Given the description of an element on the screen output the (x, y) to click on. 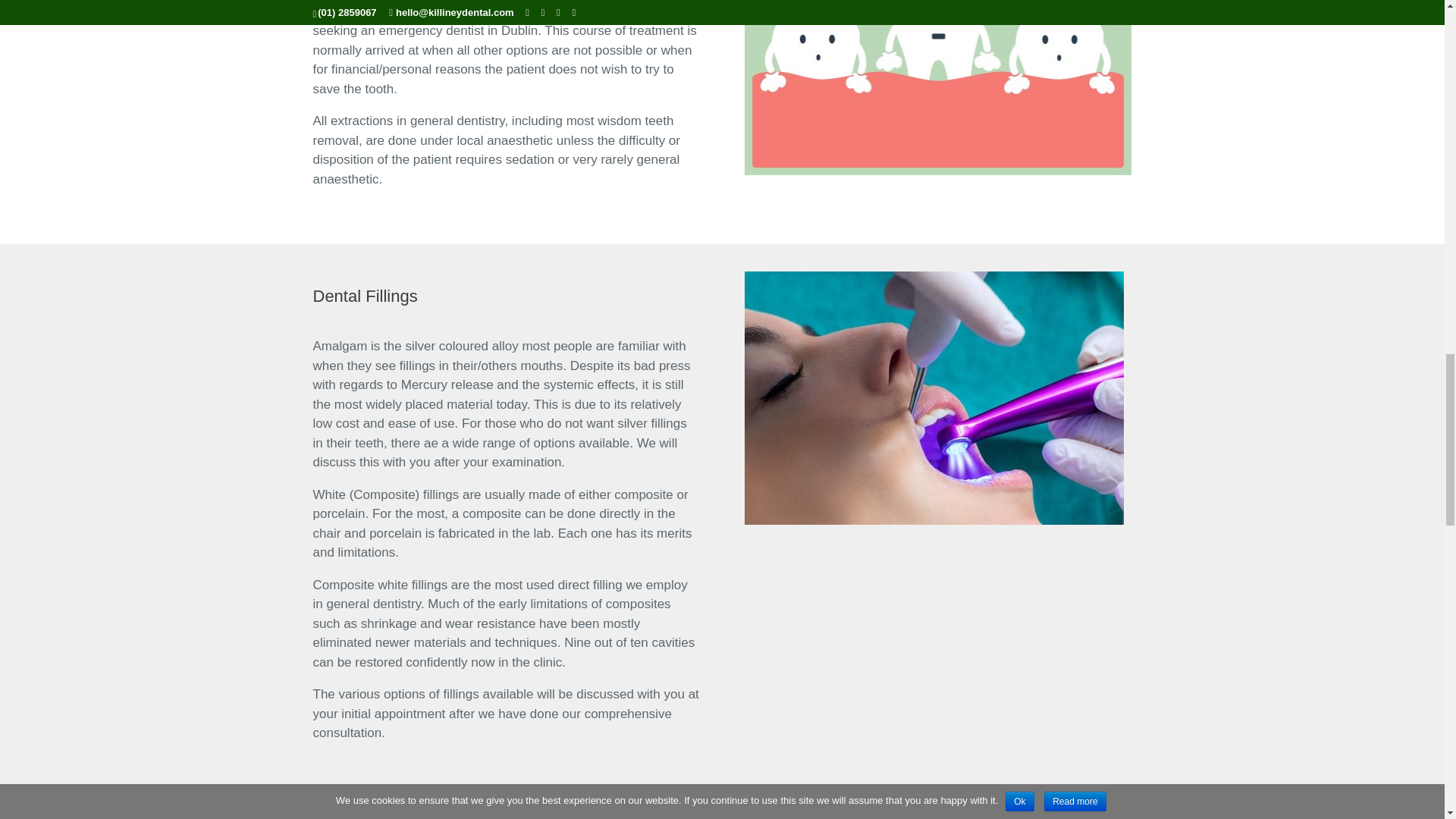
emergency dentist dublin (937, 87)
White fillings dublin (934, 397)
